Given the description of an element on the screen output the (x, y) to click on. 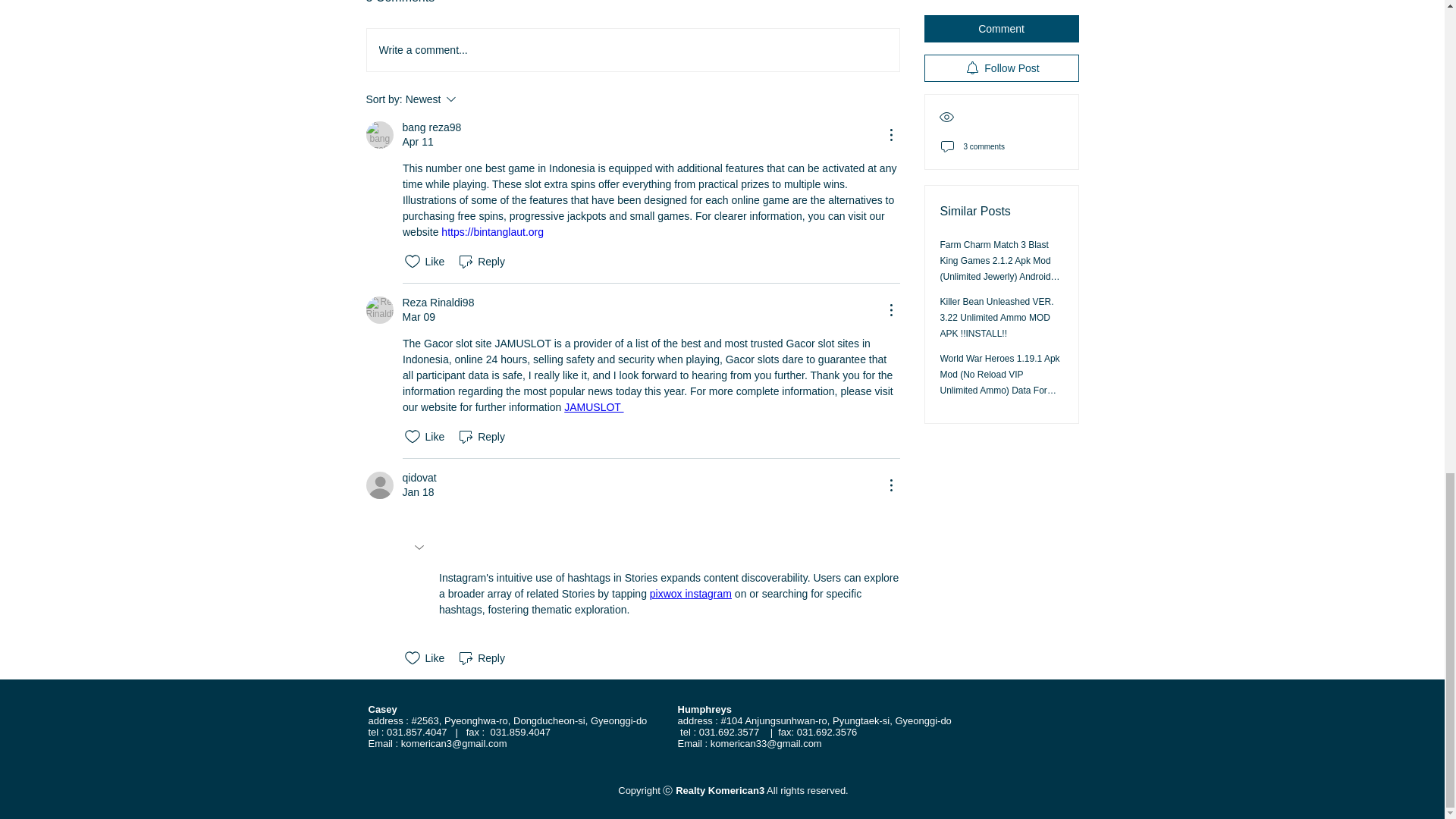
Reply (481, 658)
Reza Rinaldi98 (379, 309)
pixwox instagram (689, 593)
Reply (481, 261)
Reply (481, 436)
Write a comment... (632, 49)
JAMUSLOT  (593, 407)
Reza Rinaldi98 (471, 99)
bang reza98 (437, 302)
bang reza98 (431, 127)
qidovat (379, 134)
